Given the description of an element on the screen output the (x, y) to click on. 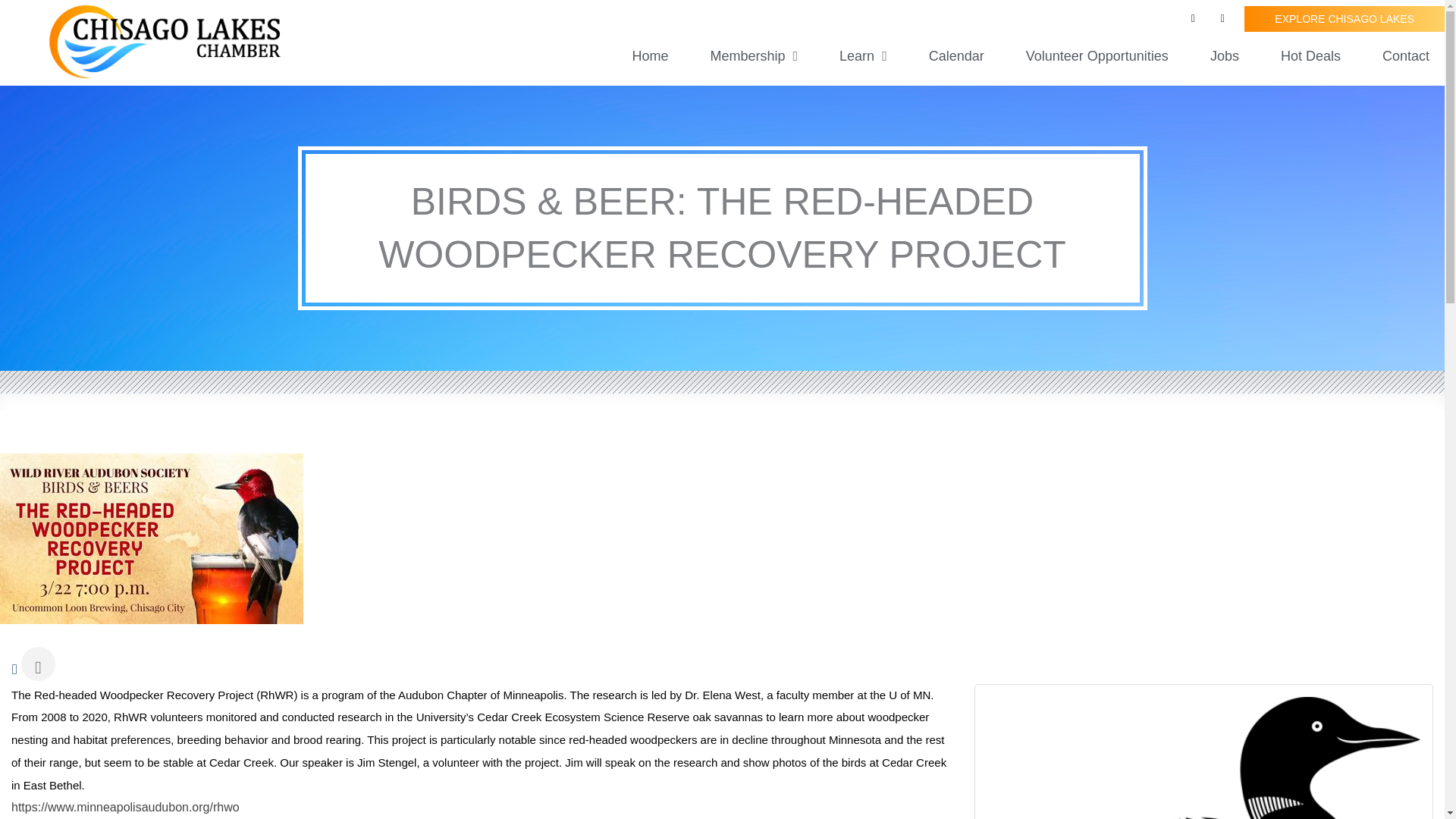
Home (648, 55)
Volunteer Opportunities (1096, 55)
Calendar (956, 55)
Jobs (1224, 55)
Hot Deals (1310, 55)
Membership (753, 55)
Facebook (1193, 18)
Instagram (1222, 18)
Learn (863, 55)
